Given the description of an element on the screen output the (x, y) to click on. 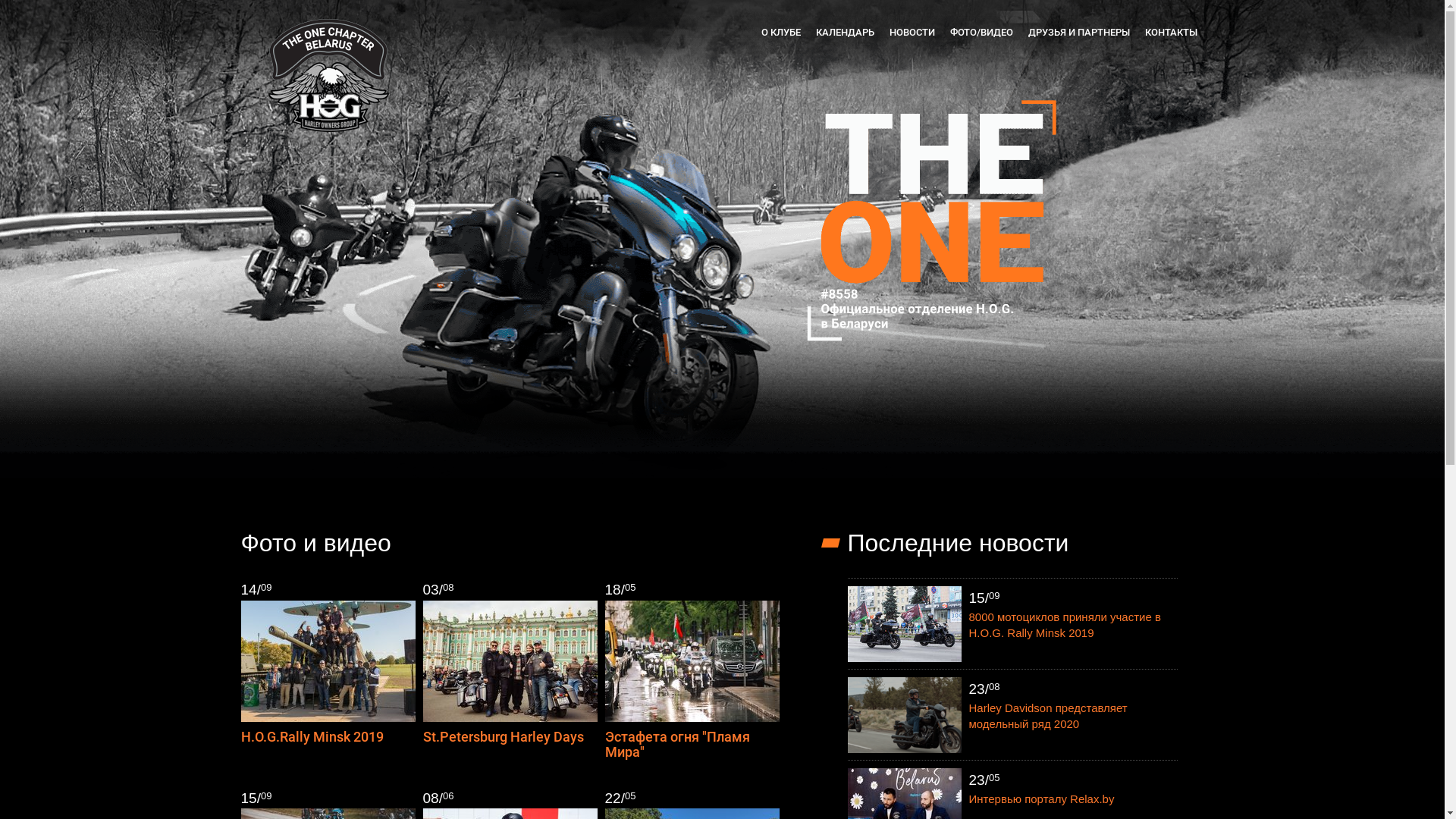
St.Petersburg Harley Days Element type: text (503, 736)
H.O.G.Rally Minsk 2019 Element type: text (312, 736)
